Given the description of an element on the screen output the (x, y) to click on. 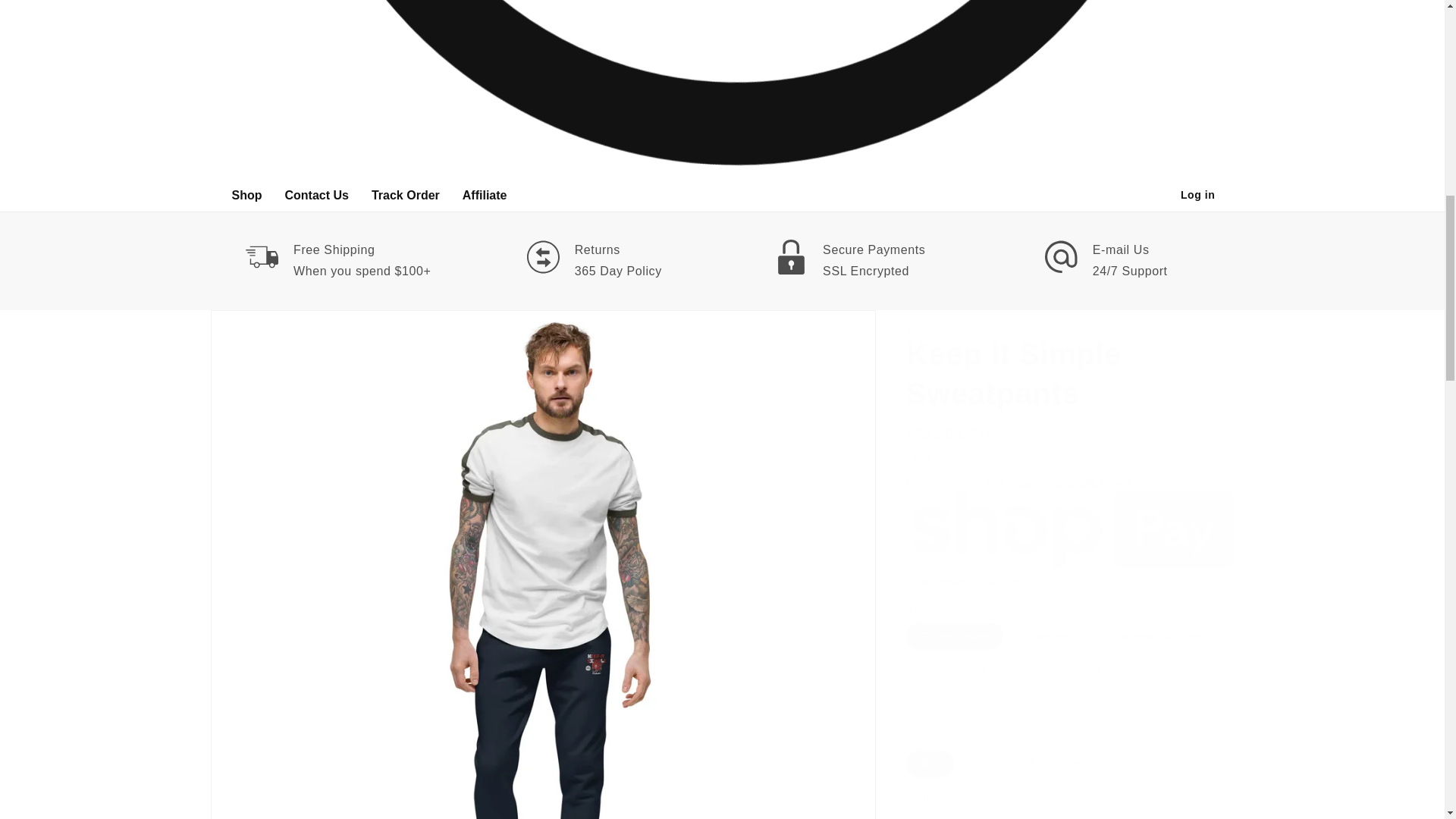
Track Order (405, 194)
Skip to product information (255, 326)
1 (959, 814)
Affiliate (484, 194)
Increase quantity for Keep It Simple Sweatpants (995, 814)
Contact Us (316, 194)
Log in (1197, 194)
